Given the description of an element on the screen output the (x, y) to click on. 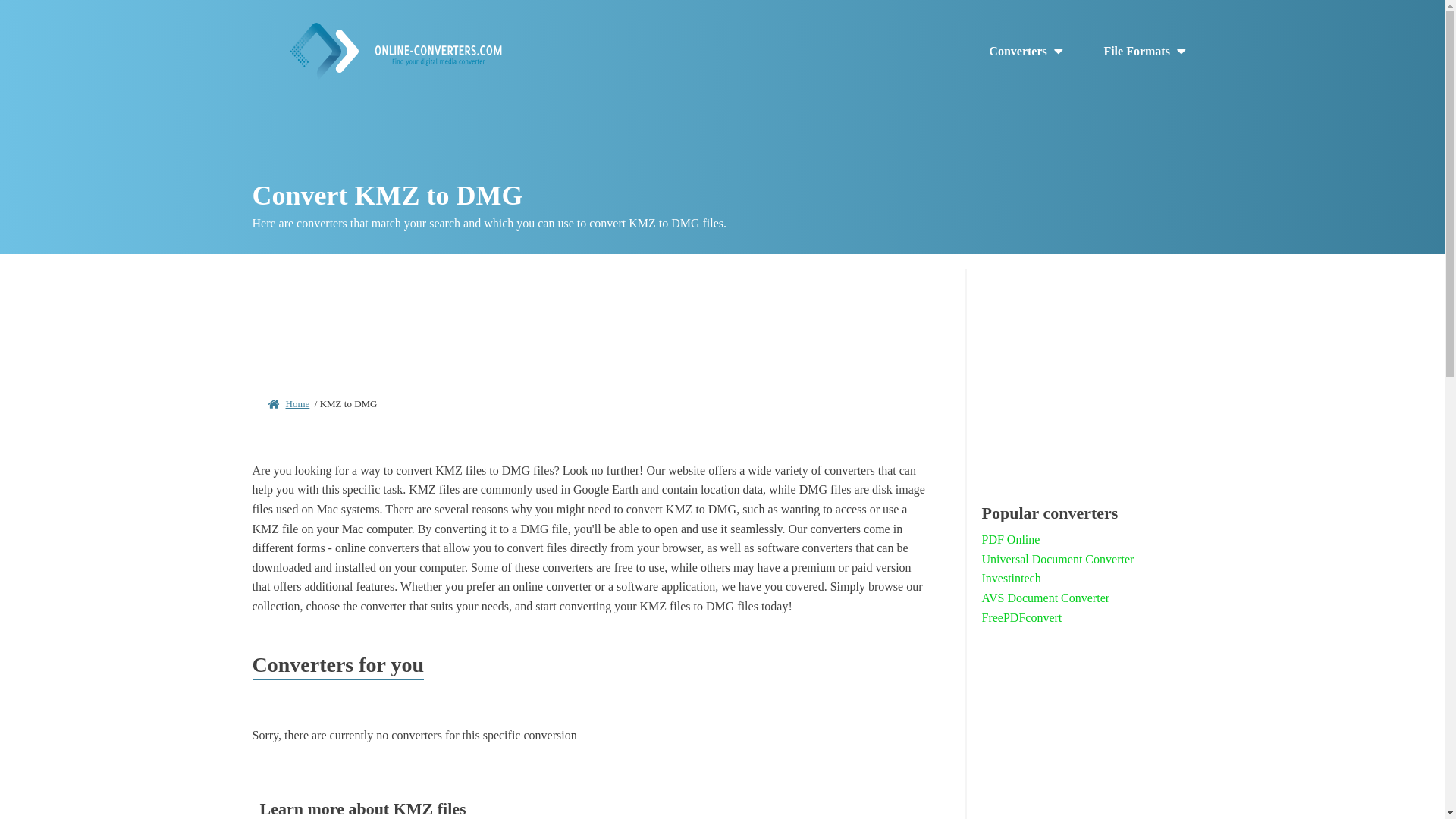
AVS Document Converter (1045, 598)
Converters (1026, 51)
Home (296, 403)
Universal Document Converter (1057, 559)
FreePDFconvert (1021, 618)
PDF Online (1010, 539)
Investintech (1011, 578)
Advertisement (591, 318)
Advertisement (1087, 738)
Advertisement (1087, 371)
